Given the description of an element on the screen output the (x, y) to click on. 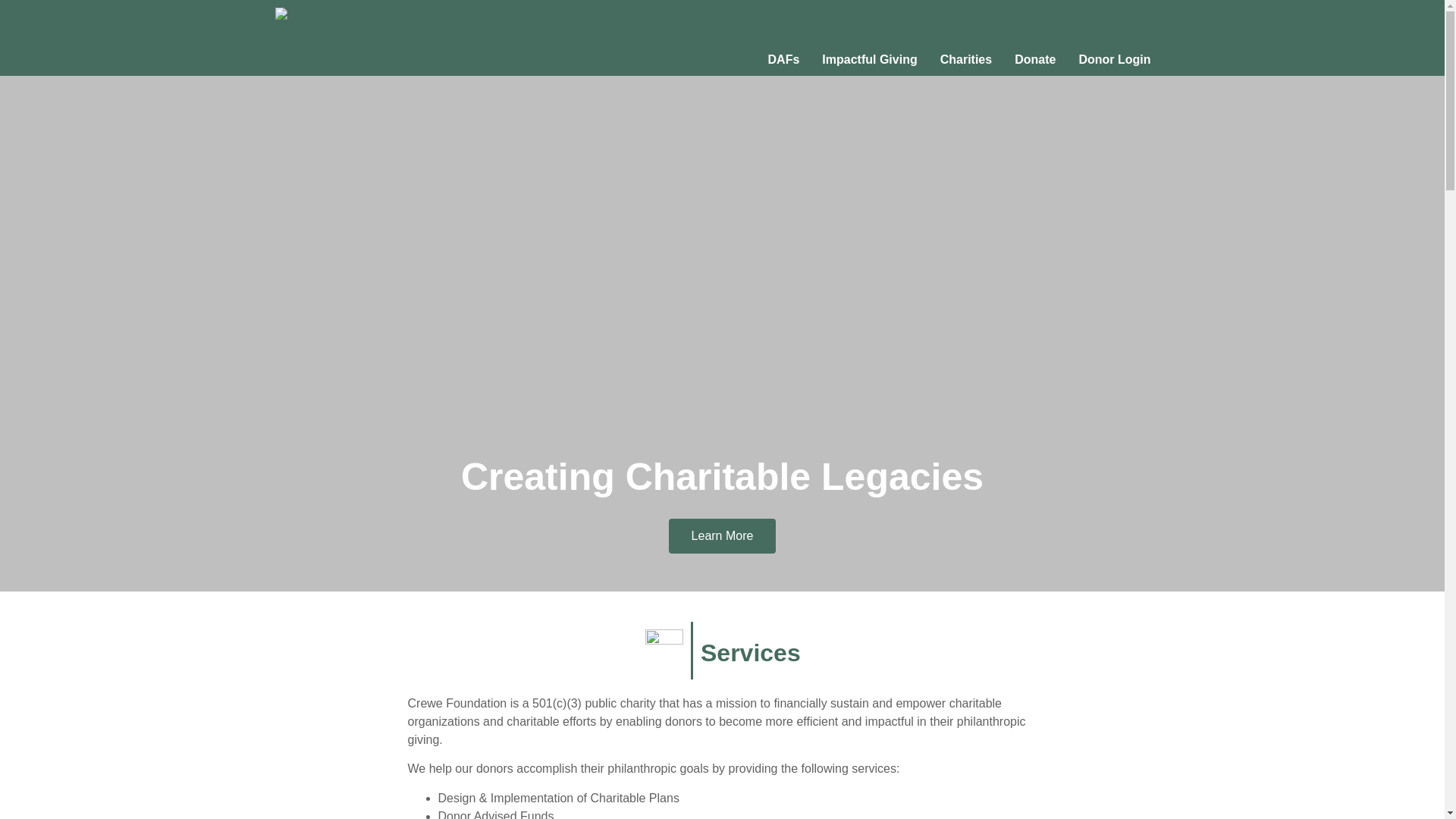
Learn More (722, 535)
Charities (965, 60)
Donate (1035, 60)
DAFs (783, 60)
Donor Login (1114, 60)
Impactful Giving (869, 60)
